Given the description of an element on the screen output the (x, y) to click on. 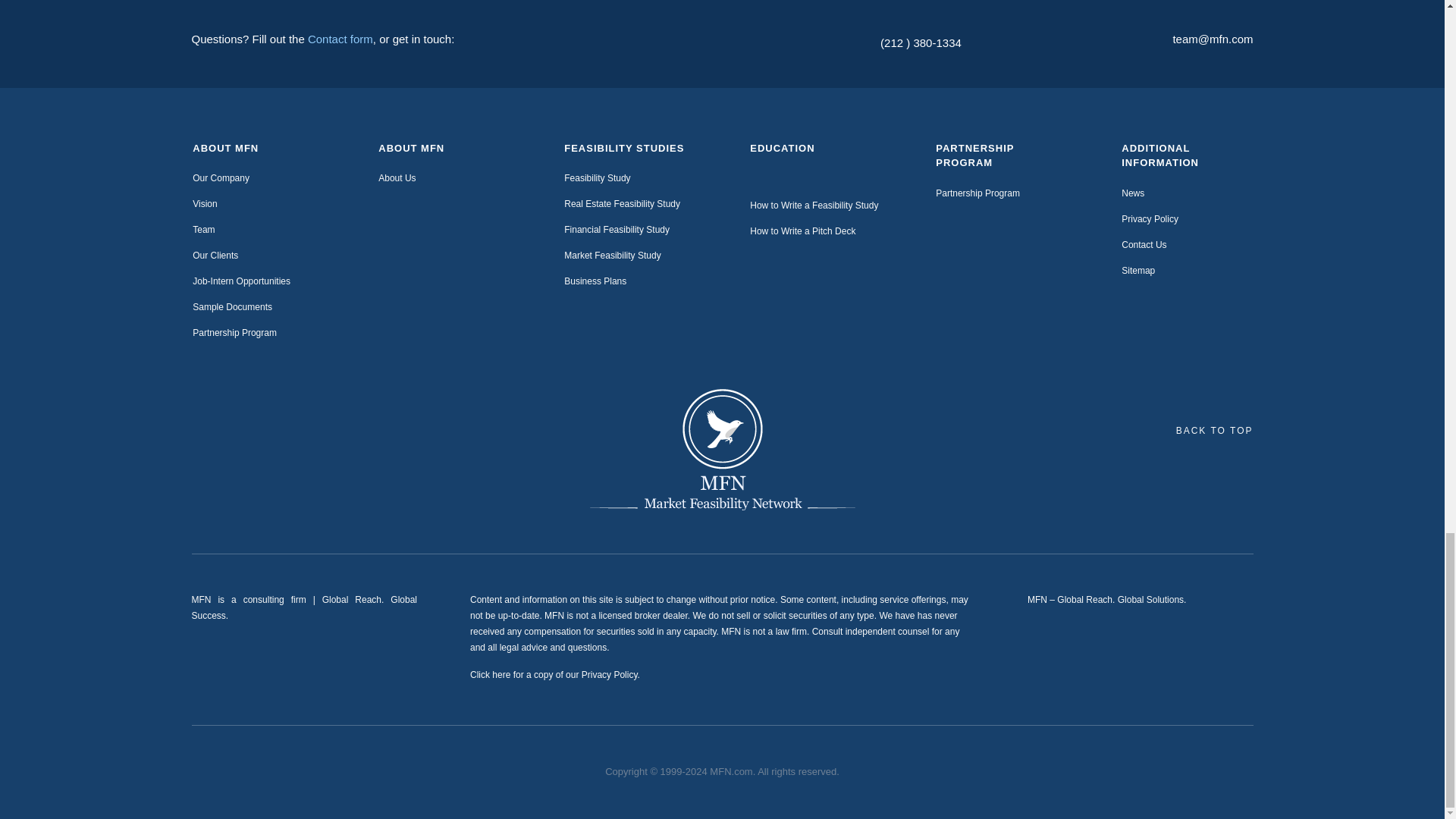
Team (203, 229)
Vision (204, 204)
Our Clients (215, 255)
Job-Intern Opportunitie (238, 281)
Prospectus.com (722, 448)
Call now (920, 42)
Our Company (220, 177)
Send an Email (1212, 38)
Contact form (339, 38)
